Given the description of an element on the screen output the (x, y) to click on. 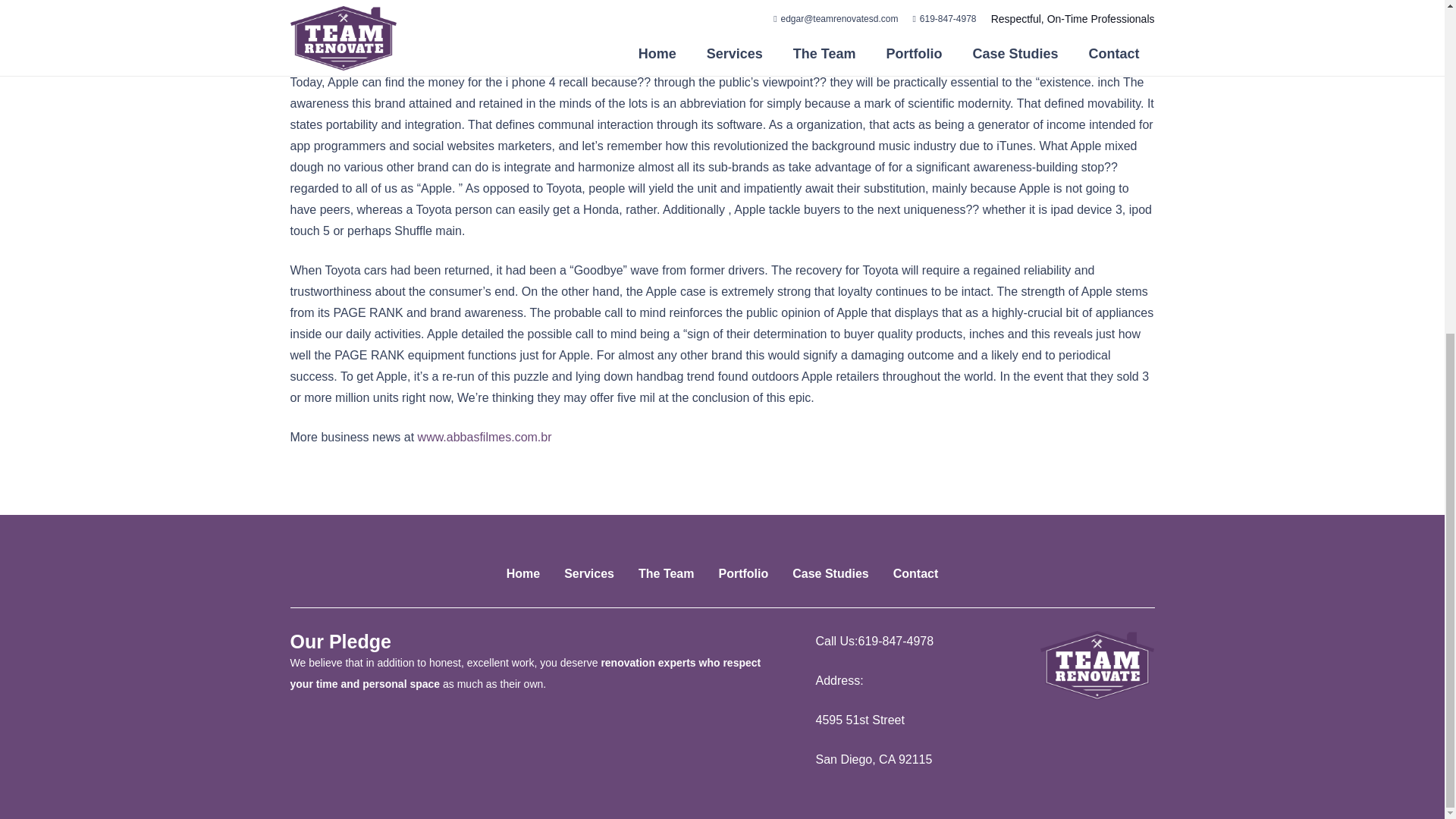
The Team (666, 573)
Home (523, 573)
Case Studies (829, 573)
www.abbasfilmes.com.br (484, 436)
Services (589, 573)
Portfolio (742, 573)
Contact (916, 573)
